Given the description of an element on the screen output the (x, y) to click on. 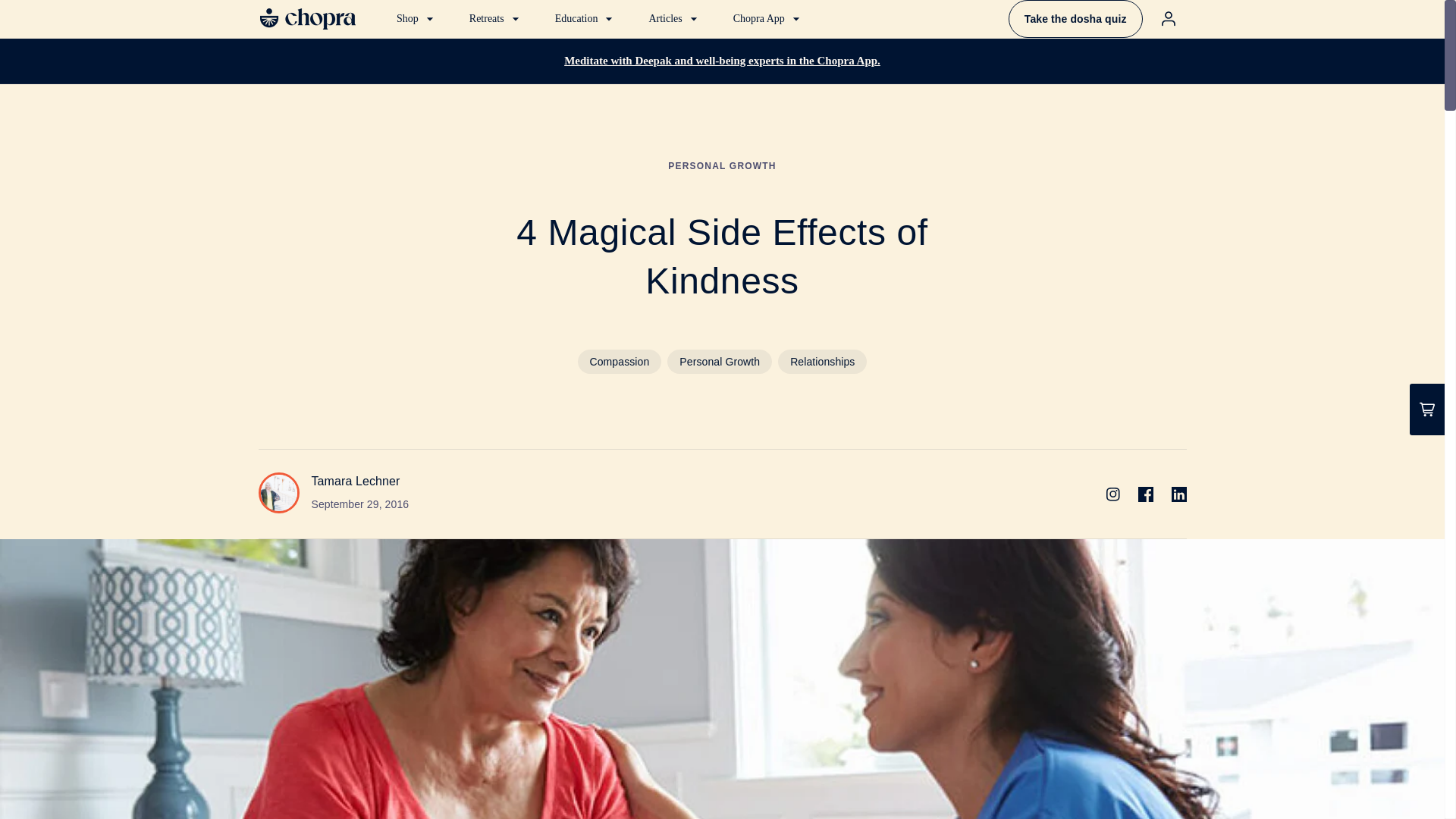
Retreats (496, 18)
PERSONAL GROWTH (722, 165)
Relationships (821, 361)
Tamara Lechner (354, 481)
LinkedIn (1178, 494)
Shop (416, 18)
Take the dosha quiz (1075, 18)
Skip to content (45, 17)
Education (585, 18)
LinkedIn (1178, 494)
Compassion (620, 361)
Personal Growth (718, 361)
Articles (674, 18)
Articles (674, 18)
